Given the description of an element on the screen output the (x, y) to click on. 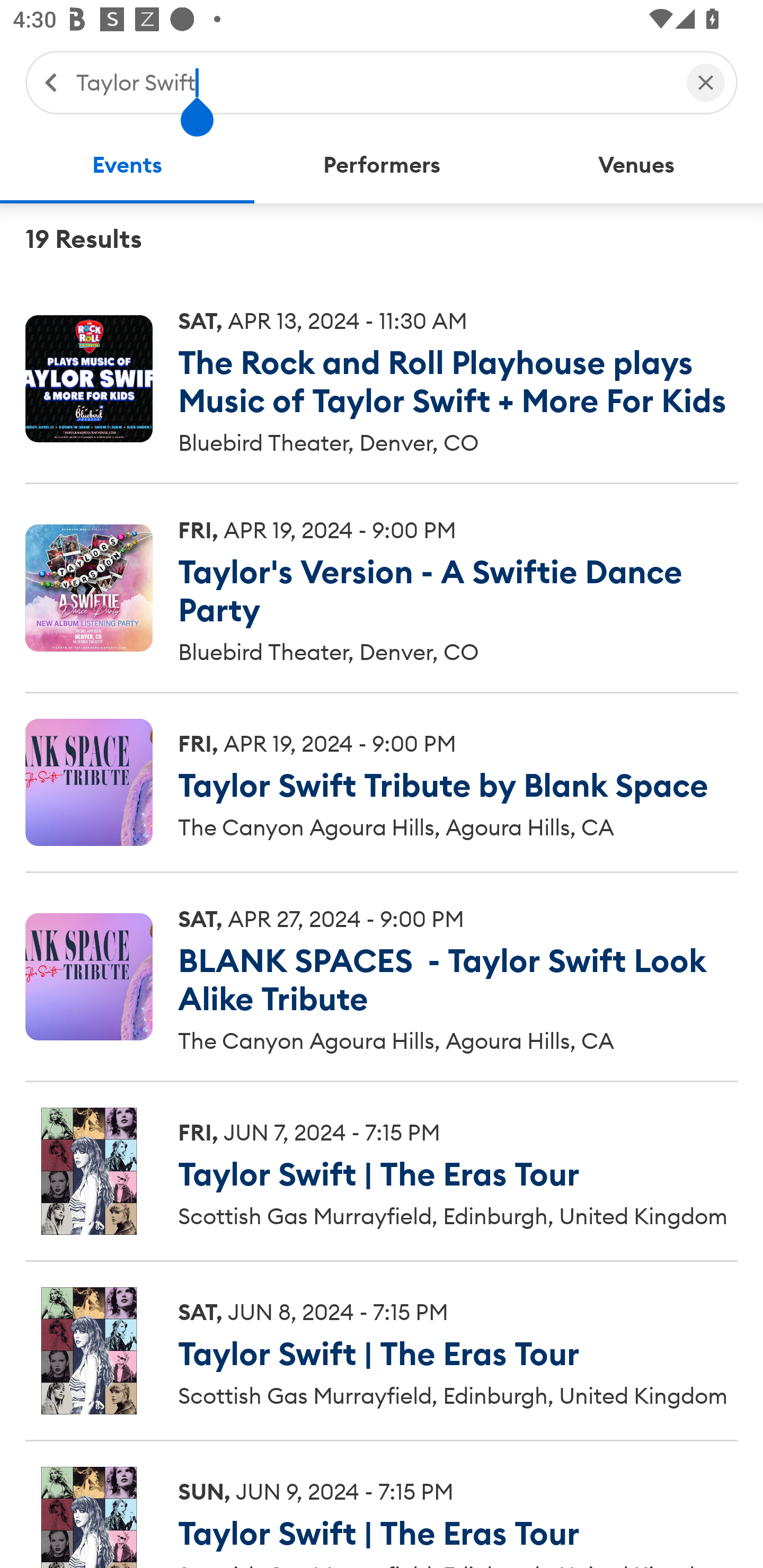
Taylor Swift (371, 81)
Clear Search (705, 81)
Performers (381, 165)
Venues (635, 165)
